Given the description of an element on the screen output the (x, y) to click on. 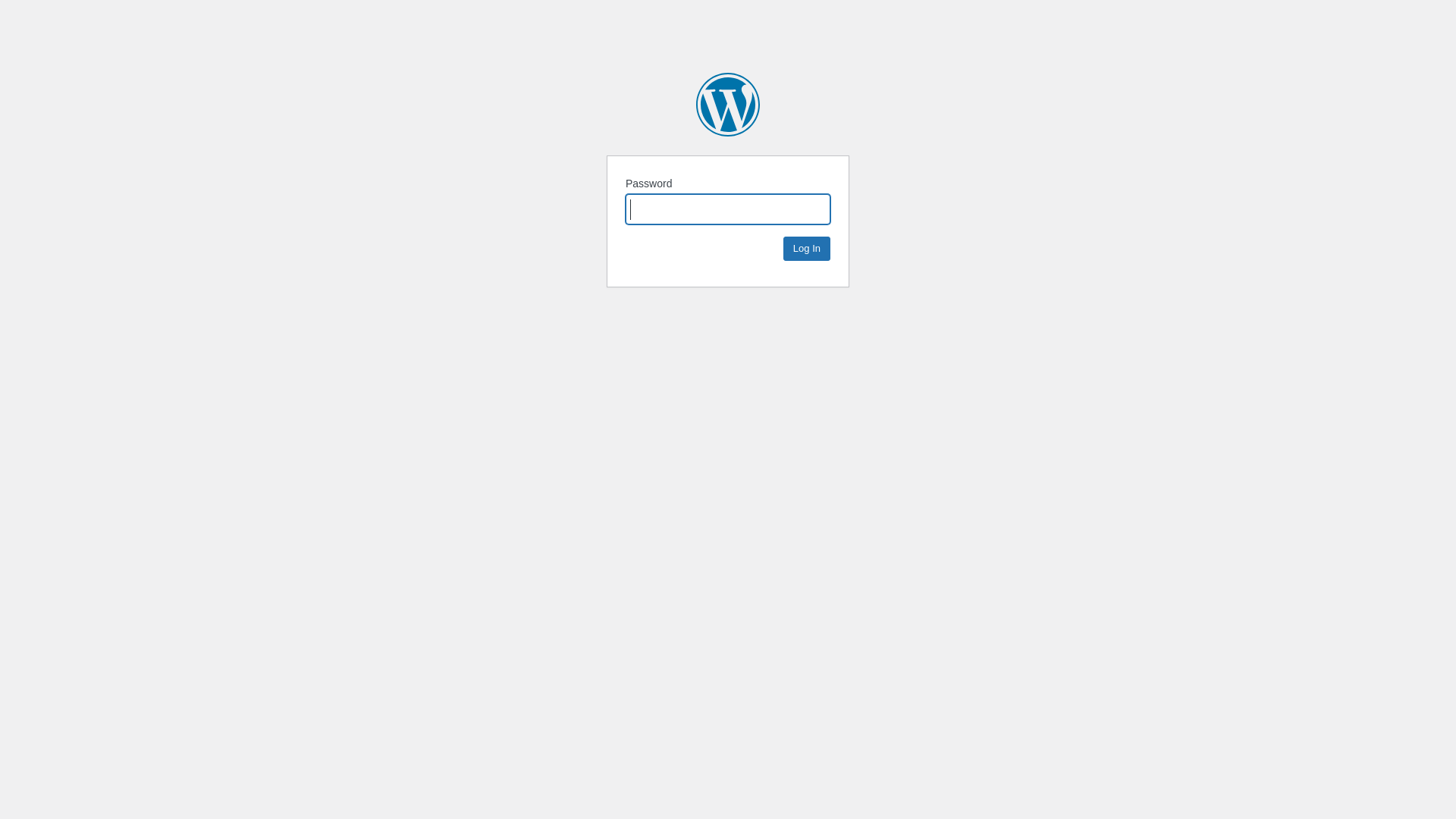
Office of the Ombudsperson Element type: text (727, 104)
Log In Element type: text (806, 248)
